Given the description of an element on the screen output the (x, y) to click on. 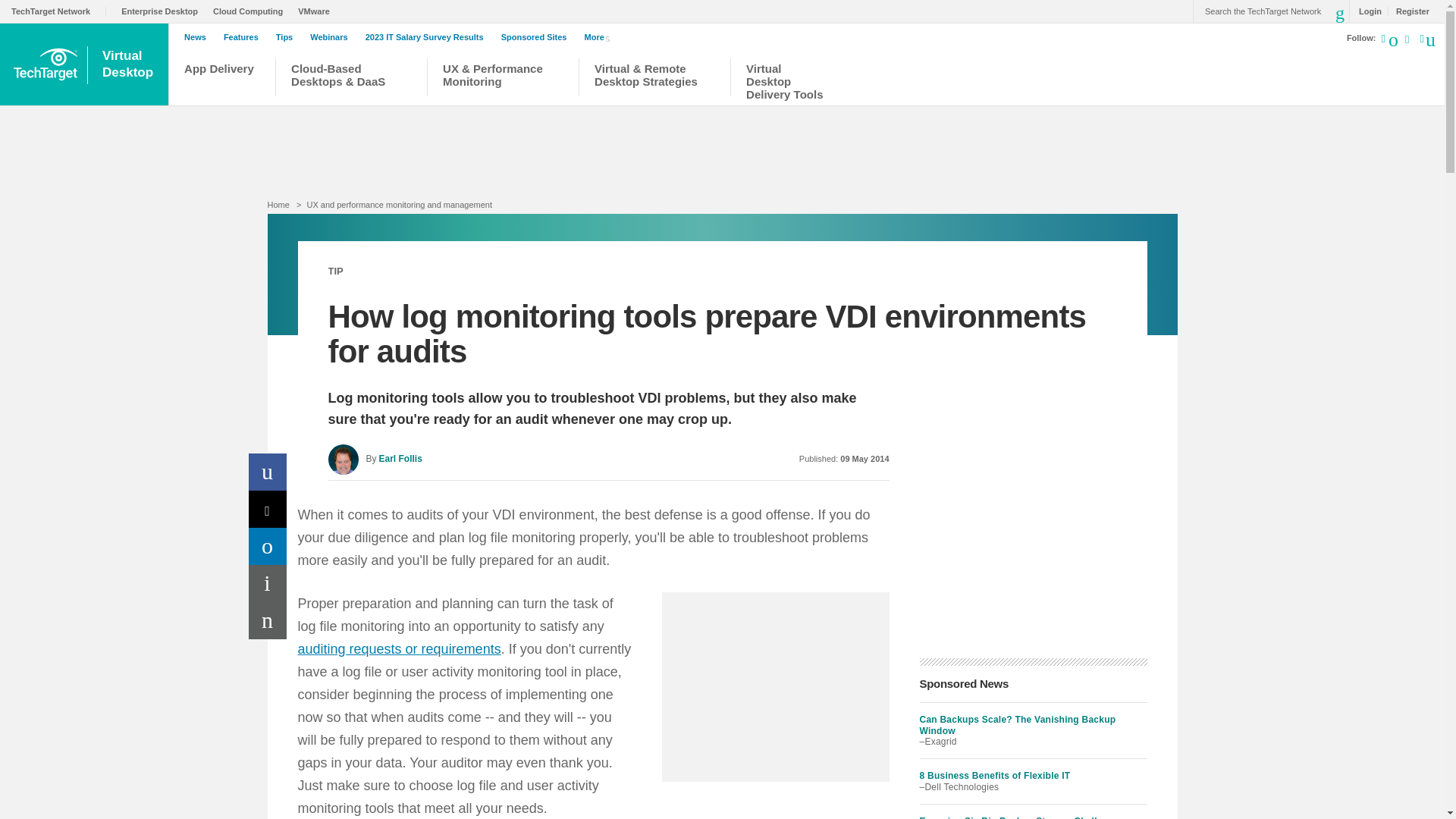
News (199, 36)
Print This Page (267, 583)
VMware (317, 10)
Share on X (267, 508)
Features (245, 36)
Share on Facebook (267, 471)
Email a Friend (129, 64)
Subscribe to Eye on Tech on Youtube (267, 620)
Enterprise Desktop (1406, 40)
Login (162, 10)
Register (1366, 10)
Cloud Computing (1408, 10)
More (250, 10)
Sponsored Sites (600, 36)
